Given the description of an element on the screen output the (x, y) to click on. 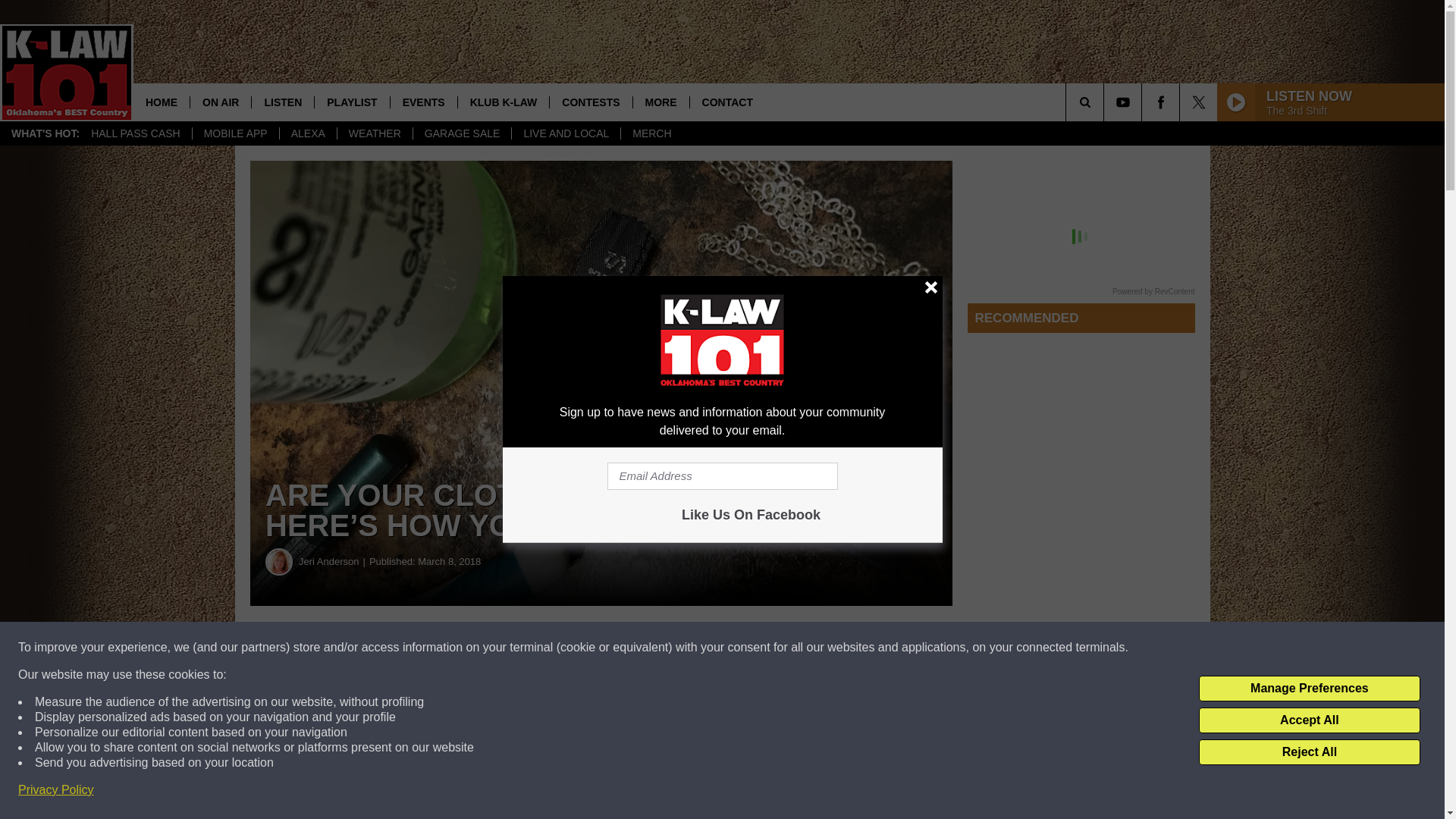
LIVE AND LOCAL (565, 133)
PLAYLIST (351, 102)
Privacy Policy (55, 789)
Email Address (722, 475)
SEARCH (1106, 102)
HOME (161, 102)
ALEXA (307, 133)
LISTEN (282, 102)
Accept All (1309, 720)
MOBILE APP (235, 133)
KLUB K-LAW (503, 102)
Reject All (1309, 751)
Share on Twitter (741, 647)
WEATHER (374, 133)
MERCH (651, 133)
